Given the description of an element on the screen output the (x, y) to click on. 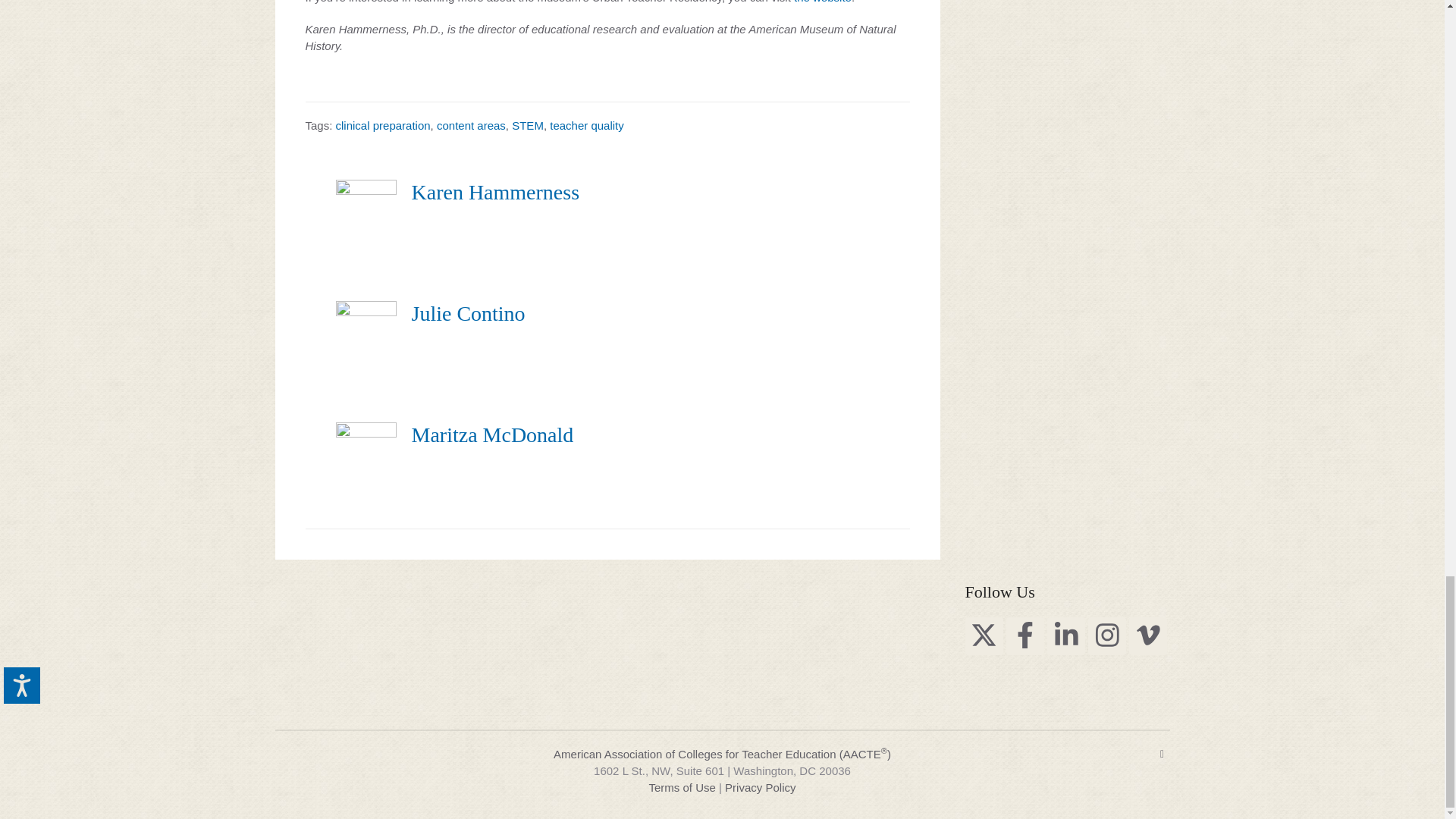
STEM (527, 124)
content areas (470, 124)
the website (822, 2)
clinical preparation (383, 124)
teacher quality (587, 124)
